Given the description of an element on the screen output the (x, y) to click on. 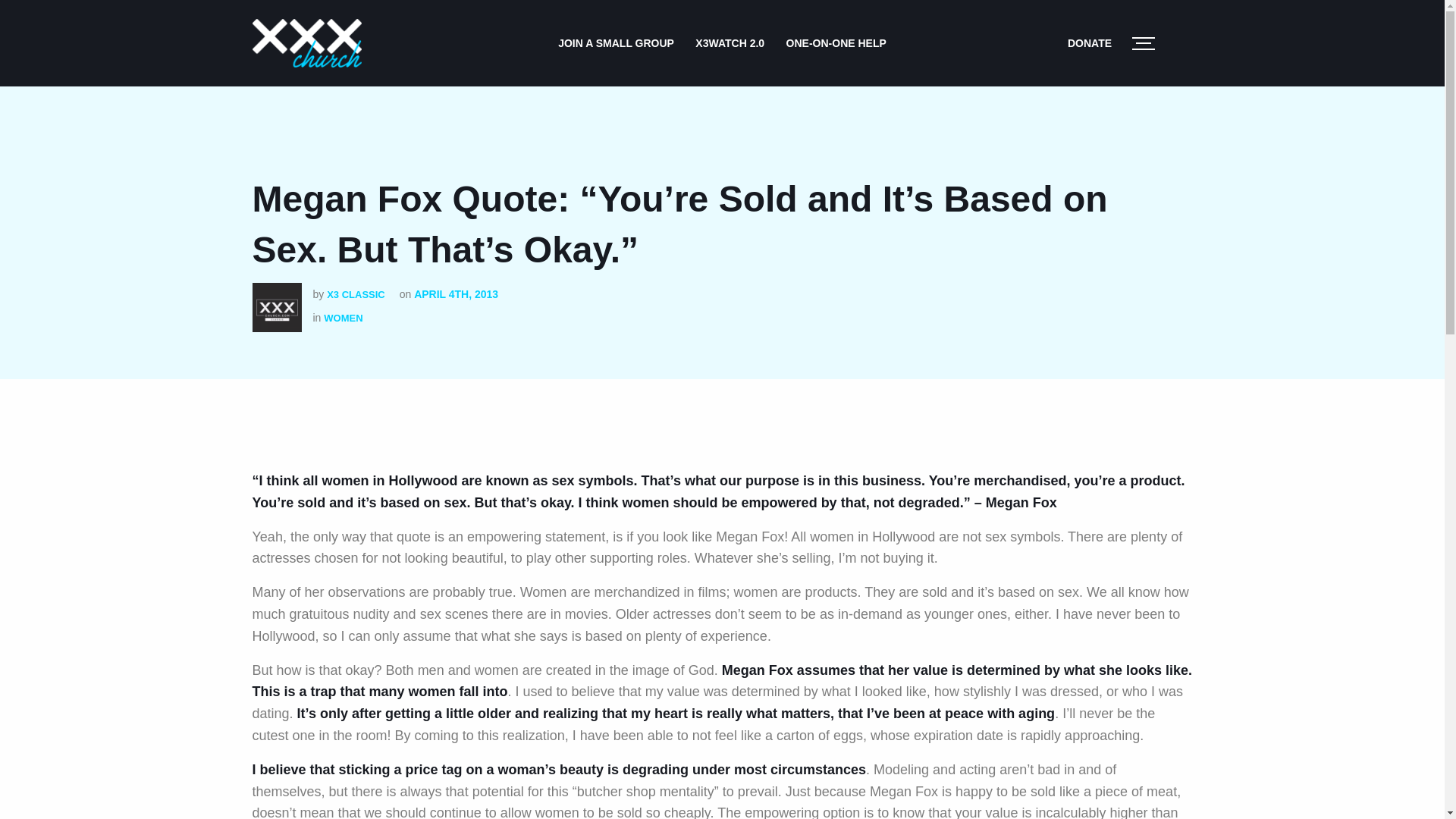
JOIN A SMALL GROUP (615, 43)
X3WATCH 2.0 (729, 43)
ONE-ON-ONE HELP (836, 43)
DONATE (1089, 43)
